Given the description of an element on the screen output the (x, y) to click on. 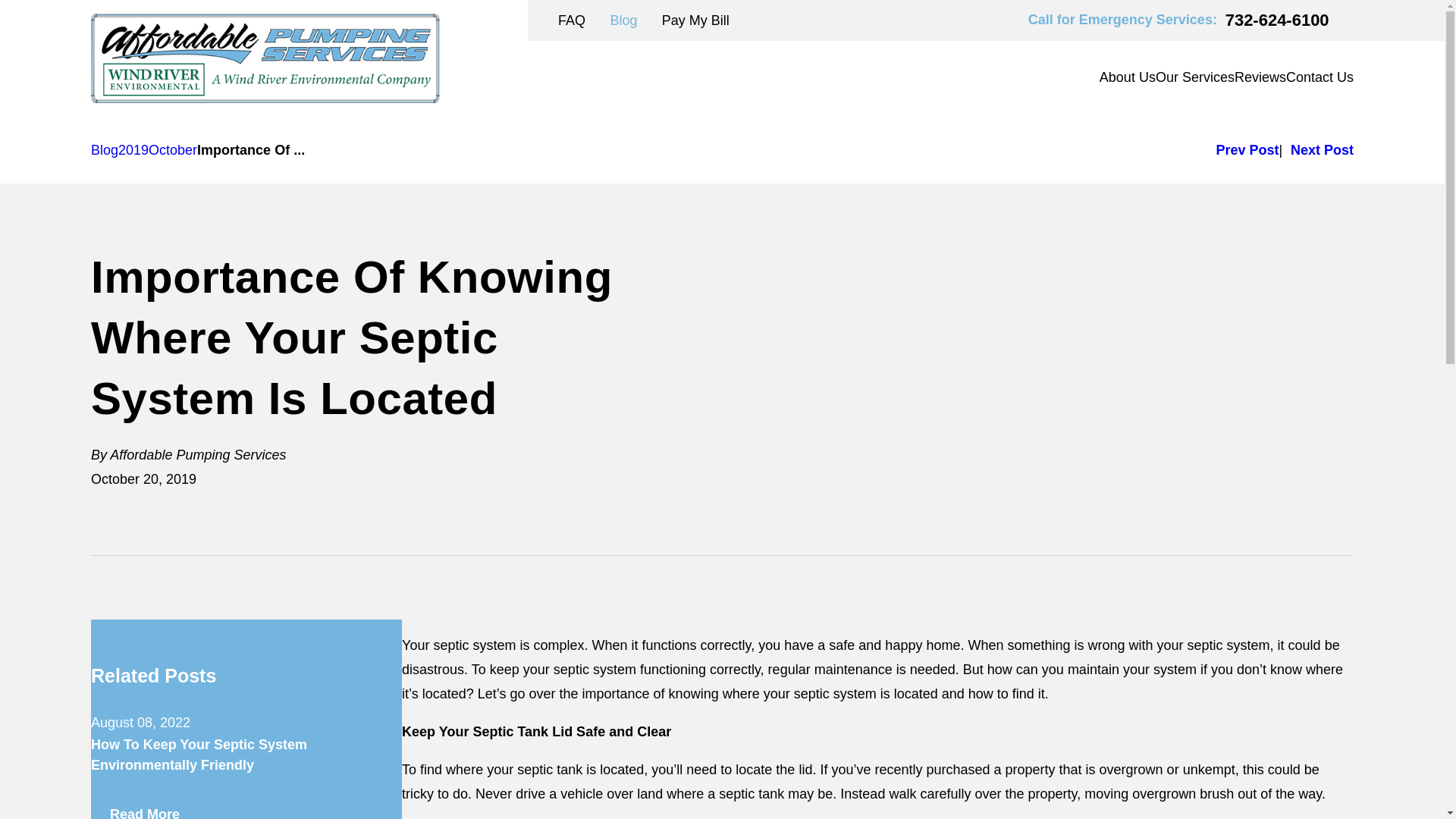
Pay My Bill (695, 20)
Affordable Pumping Services (264, 58)
732-624-6100 (1277, 20)
About Us (1127, 77)
Our Services (1195, 77)
Reviews (1259, 77)
FAQ (571, 20)
Contact Us (1319, 77)
Blog (623, 20)
Open the accessibility options menu (31, 786)
